Given the description of an element on the screen output the (x, y) to click on. 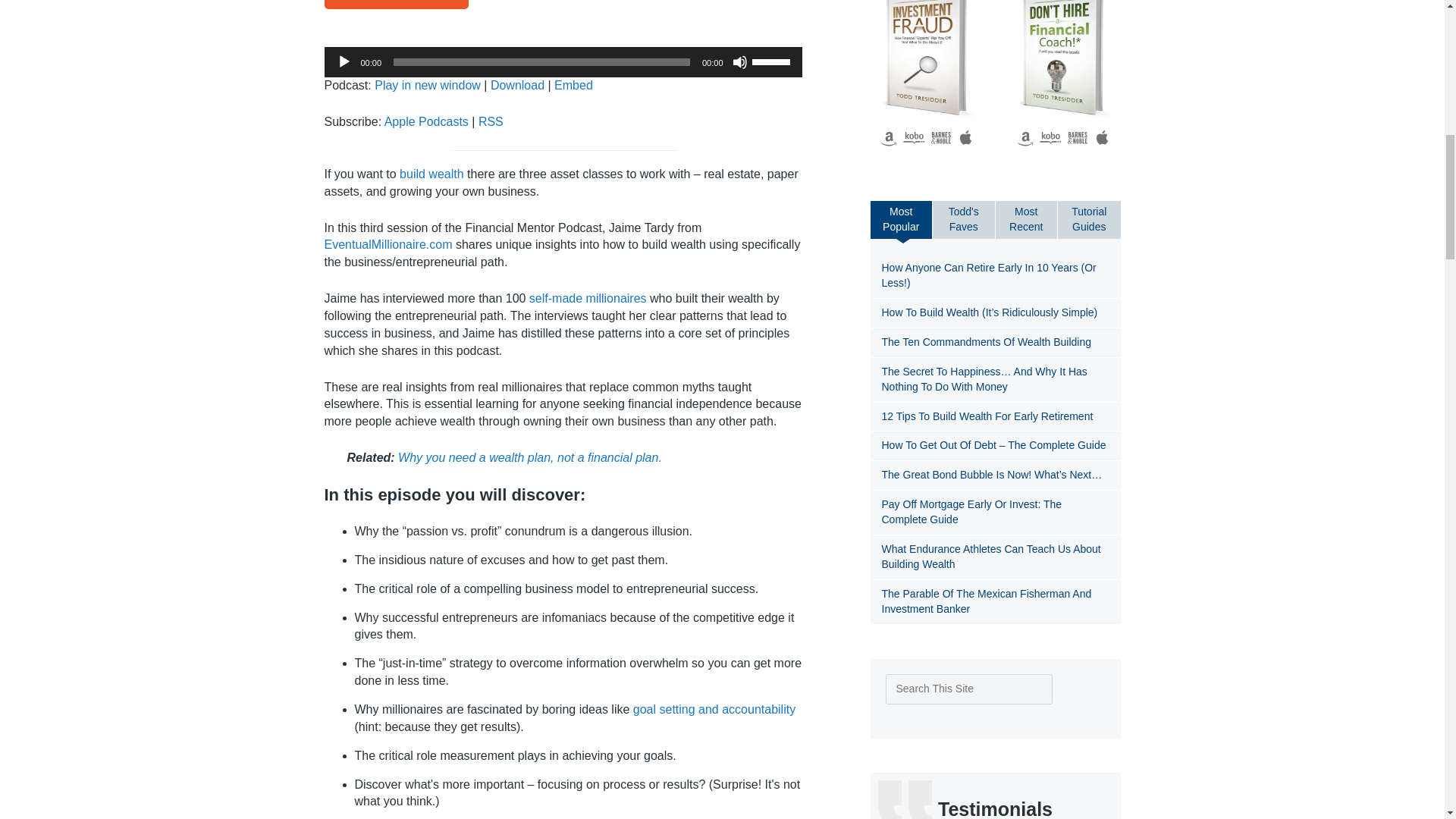
Subscribe on Apple Podcasts (426, 121)
Mute (740, 61)
How To Build Wealth Articles (431, 173)
Why you need a wealth plan, not a financial plan. (529, 457)
RSS (491, 121)
self-made millionaires (585, 297)
EventualMillionaire.com (388, 244)
Play in new window (427, 84)
Play (344, 61)
Millionaire Calculator (585, 297)
